Given the description of an element on the screen output the (x, y) to click on. 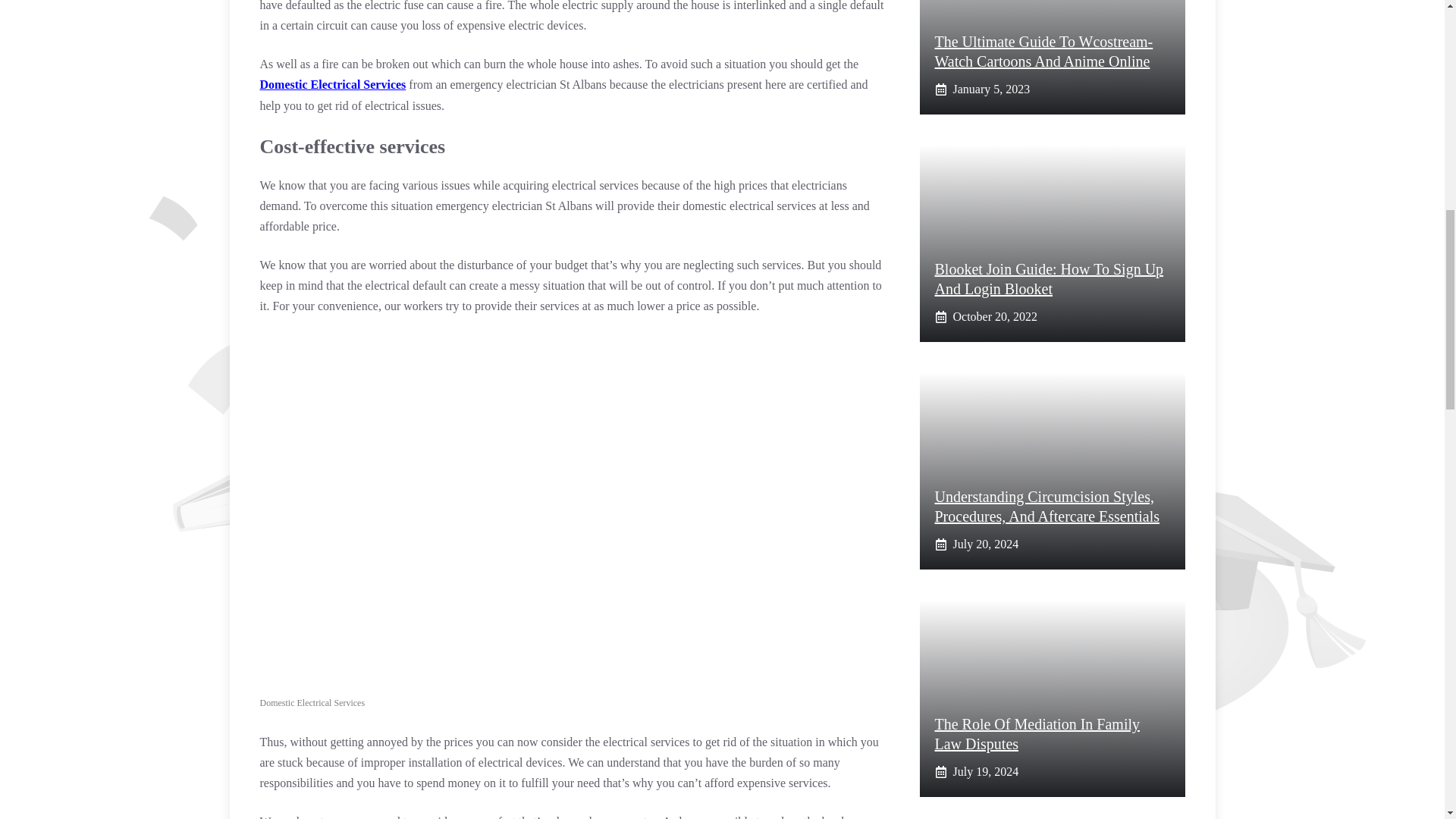
Scroll back to top (1406, 720)
